Given the description of an element on the screen output the (x, y) to click on. 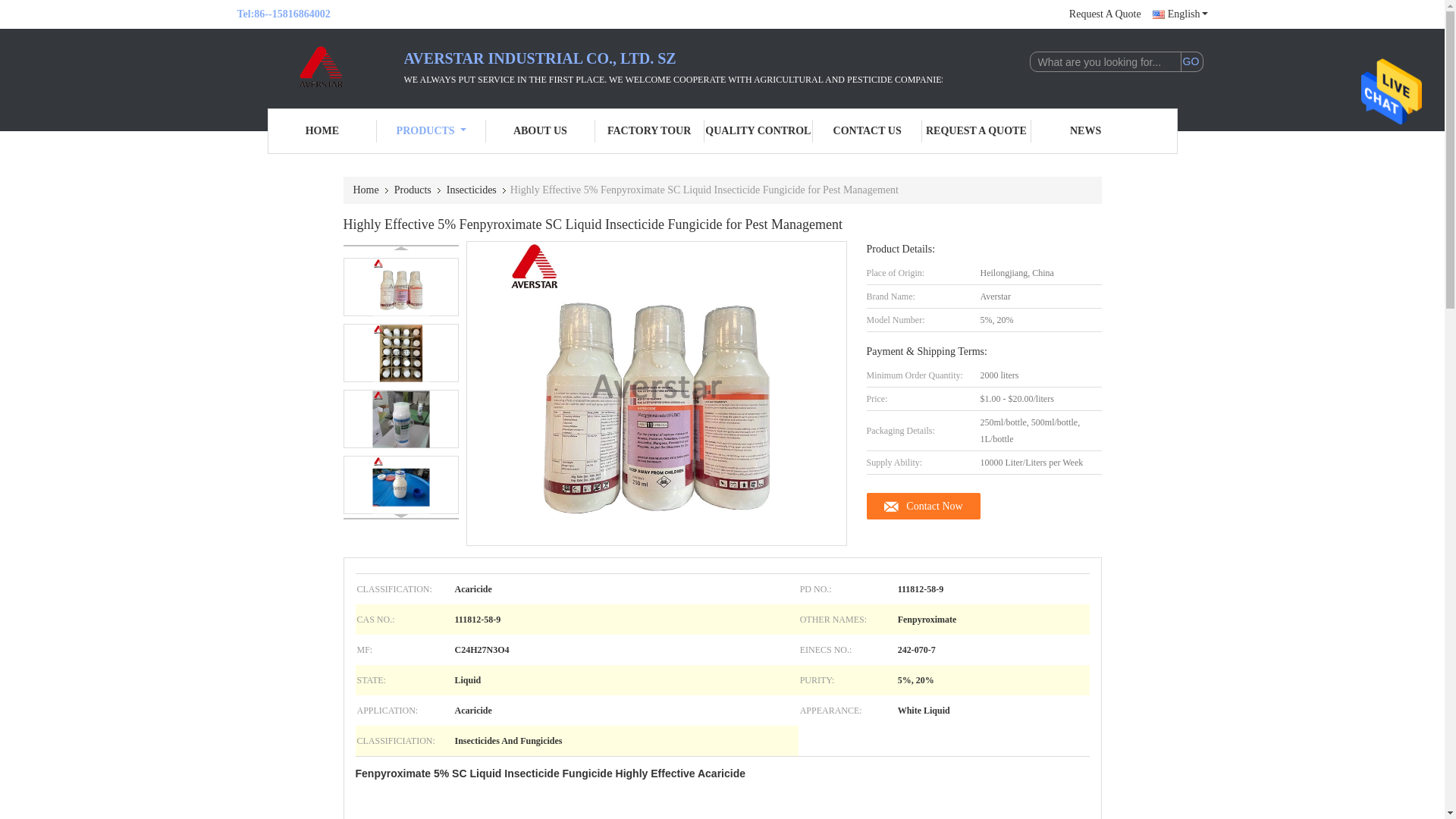
Request A Quote (1104, 14)
Insecticides (473, 189)
NEWS (1085, 130)
Averstar Industrial Co., Ltd. SZ (319, 66)
Products (414, 189)
English (1180, 14)
QUALITY CONTROL (757, 130)
Averstar Industrial Co., Ltd. SZ (322, 130)
PRODUCTS (431, 130)
ABOUT US (540, 130)
REQUEST A QUOTE (975, 130)
Averstar Industrial Co., Ltd. SZ (431, 130)
FACTORY TOUR (649, 130)
GO (1190, 61)
CONTACT US (866, 130)
